Given the description of an element on the screen output the (x, y) to click on. 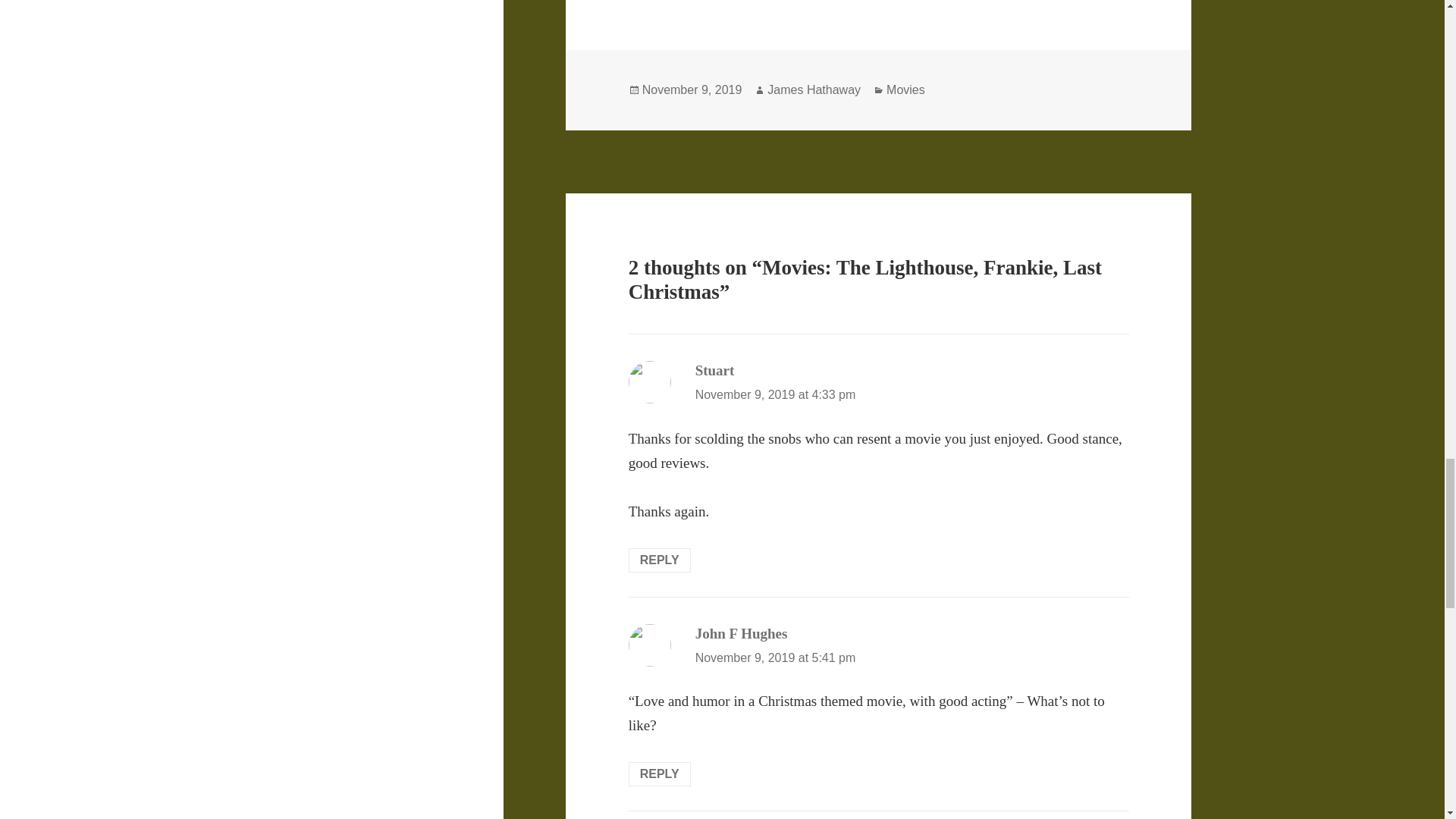
November 9, 2019 at 4:33 pm (775, 394)
November 9, 2019 (692, 90)
James Hathaway (813, 90)
November 9, 2019 at 5:41 pm (775, 657)
REPLY (659, 559)
Movies (905, 90)
REPLY (659, 774)
